Given the description of an element on the screen output the (x, y) to click on. 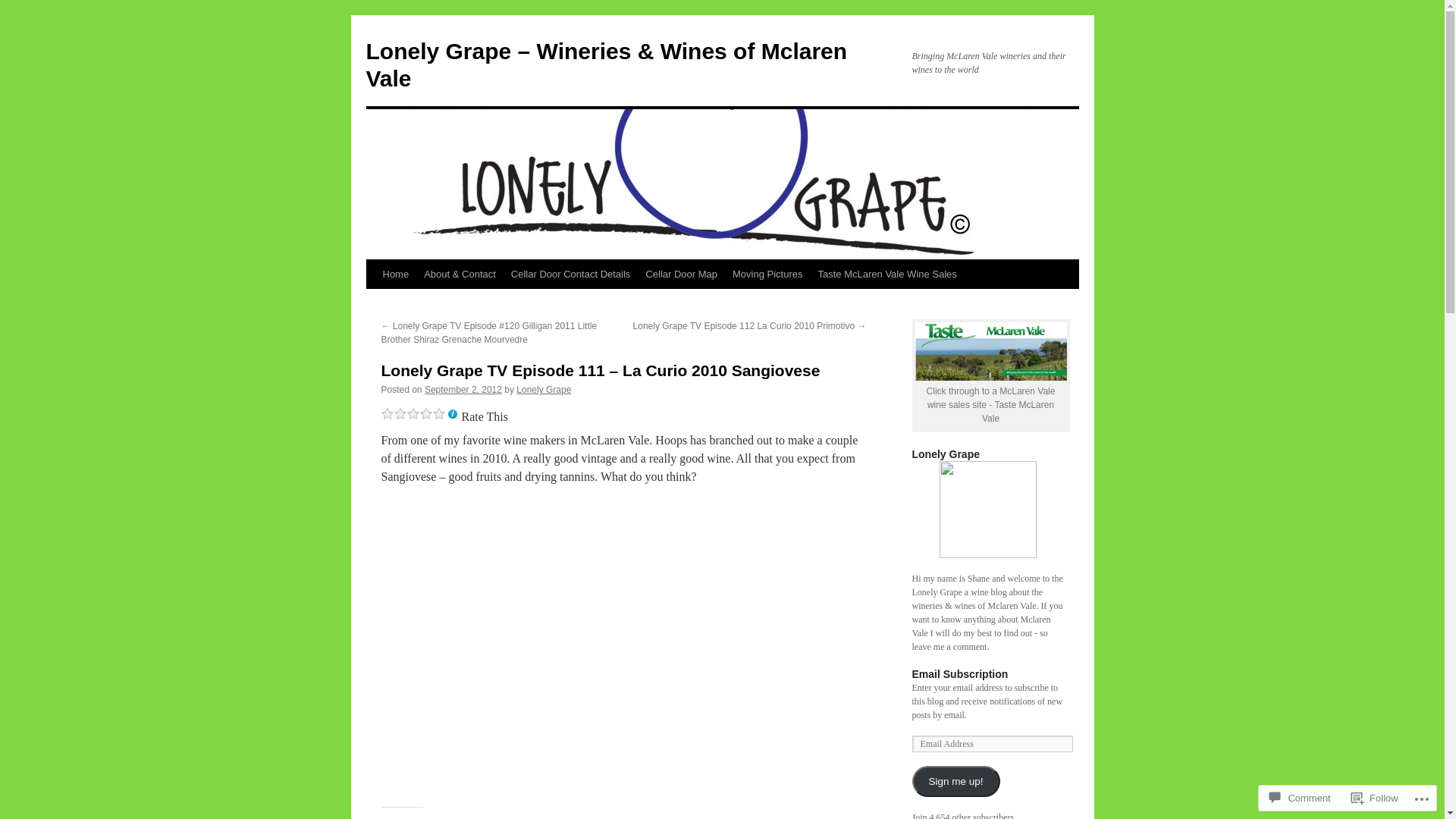
Comment Element type: text (1299, 797)
Cellar Door Map Element type: text (680, 274)
Lonely Grape Element type: text (543, 389)
Sign me up! Element type: text (955, 781)
Moving Pictures Element type: text (766, 274)
About & Contact Element type: text (459, 274)
September 2, 2012 Element type: text (463, 389)
Taste McLaren Vale Wine Sales Element type: text (887, 274)
Home Element type: text (395, 274)
Follow Element type: text (1374, 797)
Cellar Door Contact Details Element type: text (570, 274)
